Given the description of an element on the screen output the (x, y) to click on. 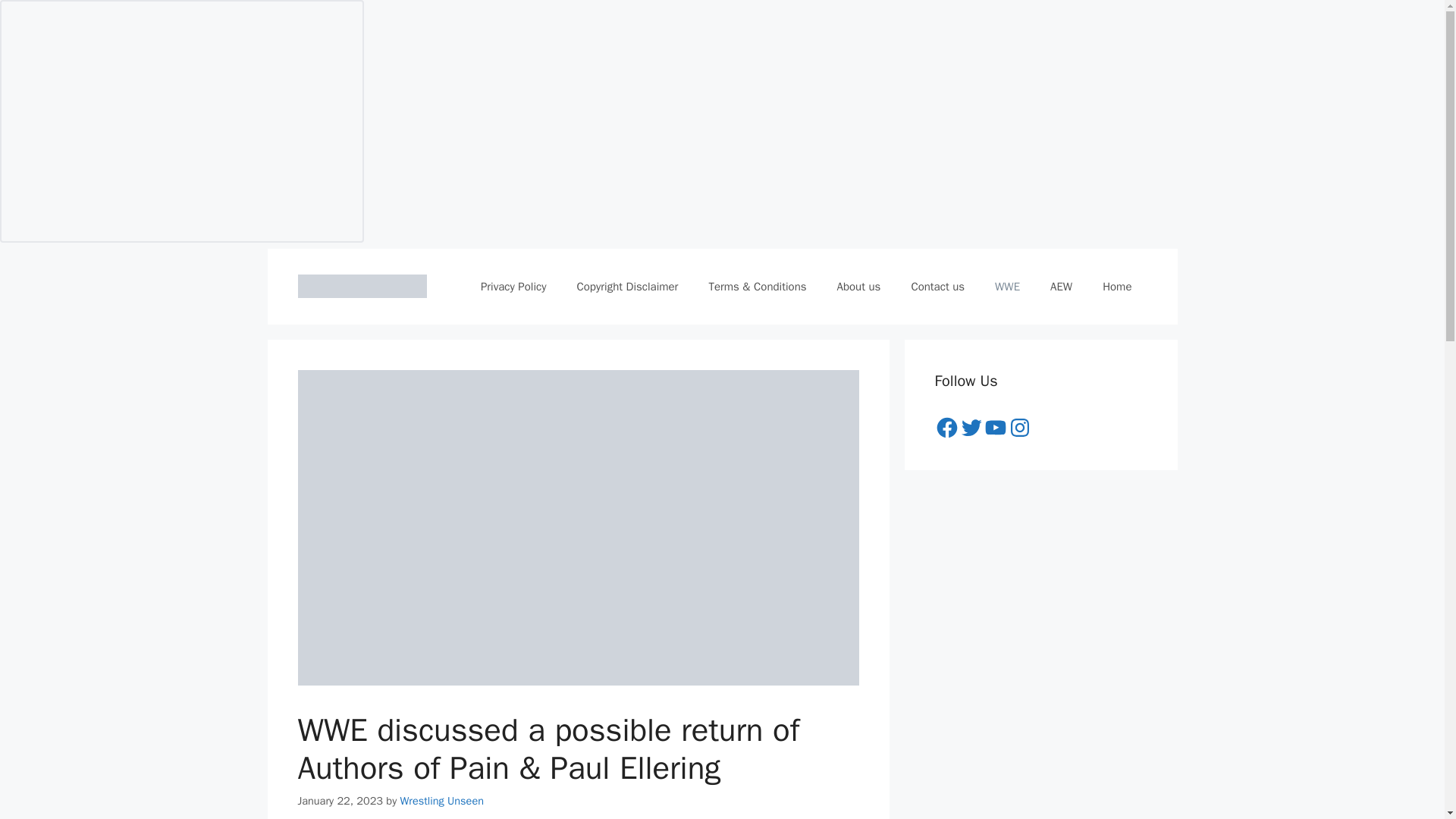
YouTube (994, 427)
WWE (1007, 286)
View all posts by Wrestling Unseen (441, 800)
Contact us (937, 286)
About us (859, 286)
Copyright Disclaimer (626, 286)
Instagram (1018, 427)
Wrestling Unseen (441, 800)
Twitter (970, 427)
Home (1117, 286)
Privacy Policy (513, 286)
Facebook (946, 427)
AEW (1061, 286)
